Given the description of an element on the screen output the (x, y) to click on. 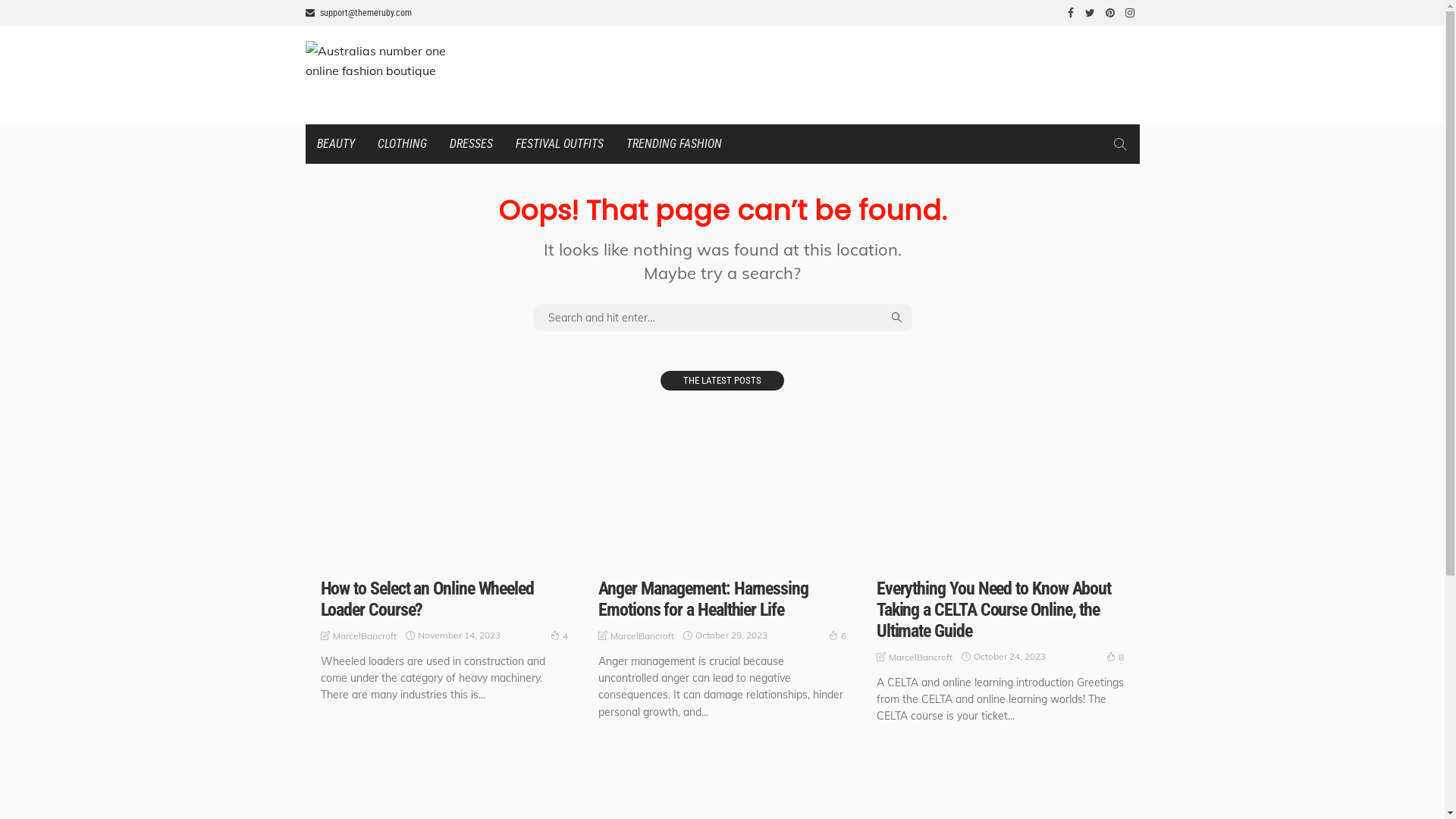
8 Element type: text (1114, 657)
search Element type: hover (1119, 143)
twitter Element type: hover (1089, 12)
BEAUTY Element type: text (334, 143)
pinterest Element type: hover (1109, 12)
MarcelBancroft Element type: text (920, 657)
4 Element type: text (558, 635)
search for: Element type: hover (721, 317)
DRESSES Element type: text (471, 143)
FESTIVAL OUTFITS Element type: text (558, 143)
MarcelBancroft Element type: text (363, 635)
MarcelBancroft Element type: text (642, 635)
How to Select an Online Wheeled Loader Course? Element type: text (426, 598)
Anger Management: Harnessing Emotions for a Healthier Life Element type: text (703, 598)
instagram Element type: hover (1129, 12)
facebook Element type: hover (1069, 12)
6 Element type: text (837, 635)
TRENDING FASHION Element type: text (673, 143)
CLOTHING Element type: text (401, 143)
